Given the description of an element on the screen output the (x, y) to click on. 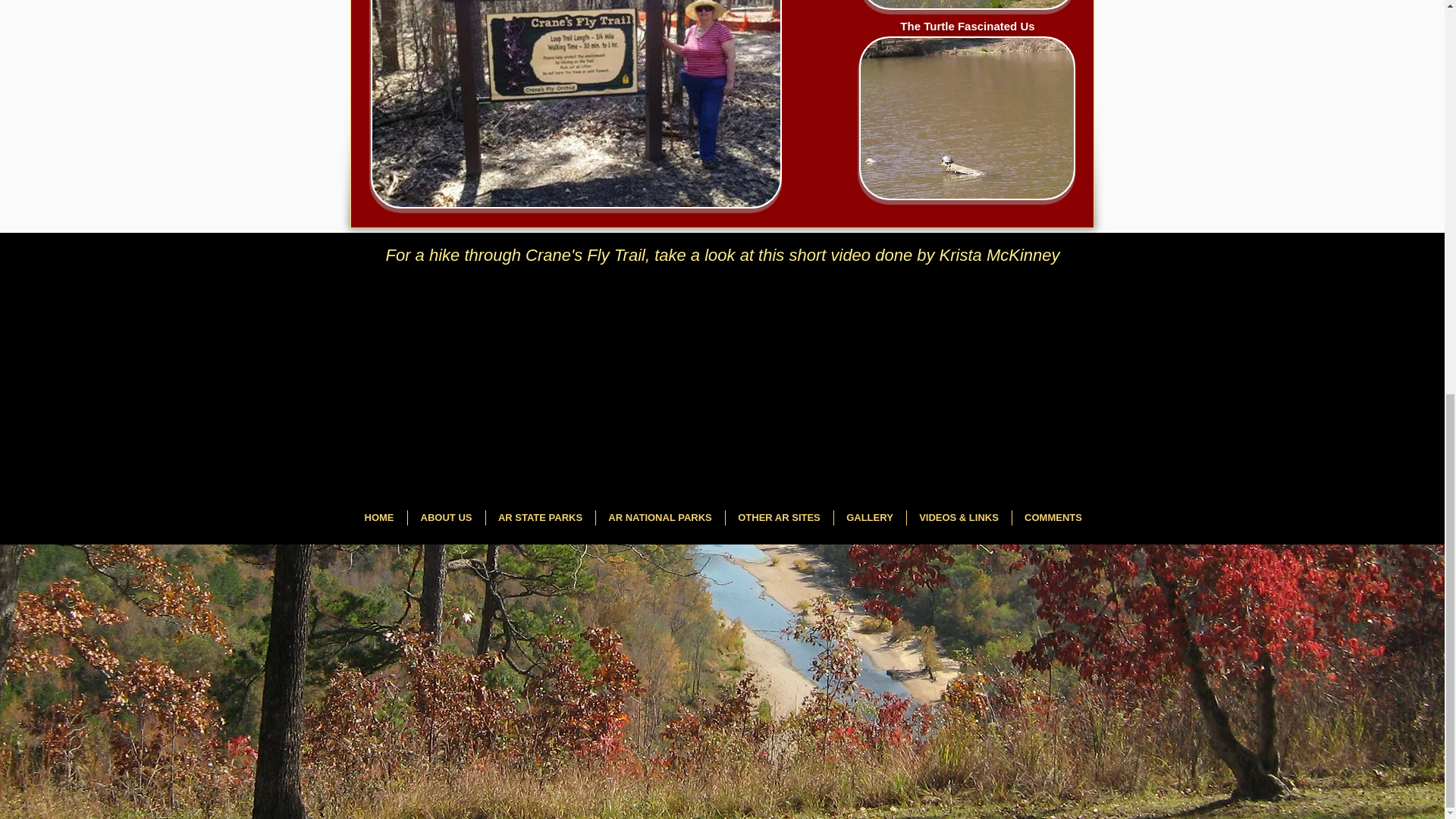
AR STATE PARKS (539, 517)
COMMENTS (1052, 517)
External YouTube (729, 374)
ABOUT US (445, 517)
AR NATIONAL PARKS (658, 517)
HOME (379, 517)
GALLERY (868, 517)
OTHER AR SITES (778, 517)
